Given the description of an element on the screen output the (x, y) to click on. 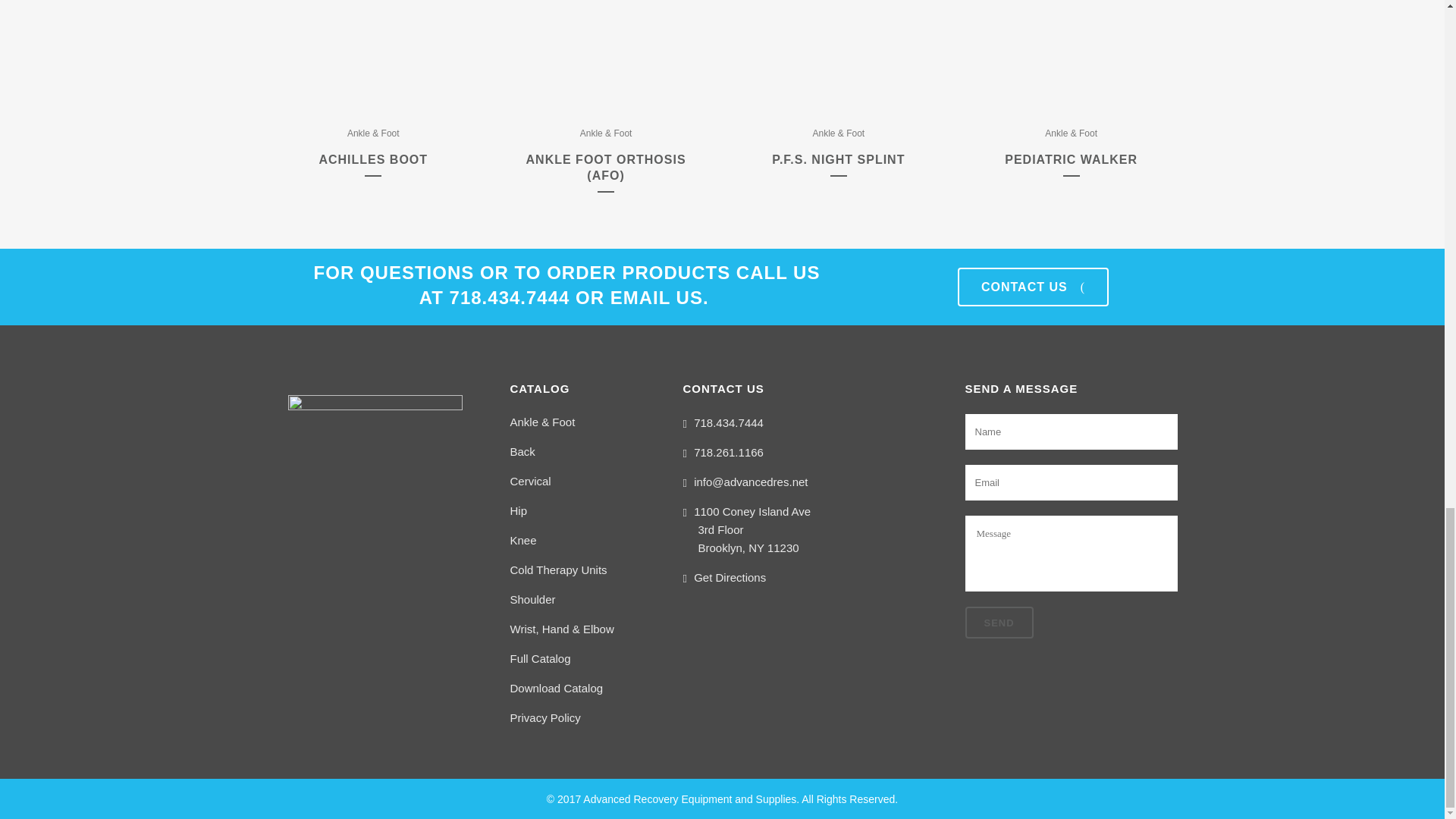
Send (997, 622)
